Given the description of an element on the screen output the (x, y) to click on. 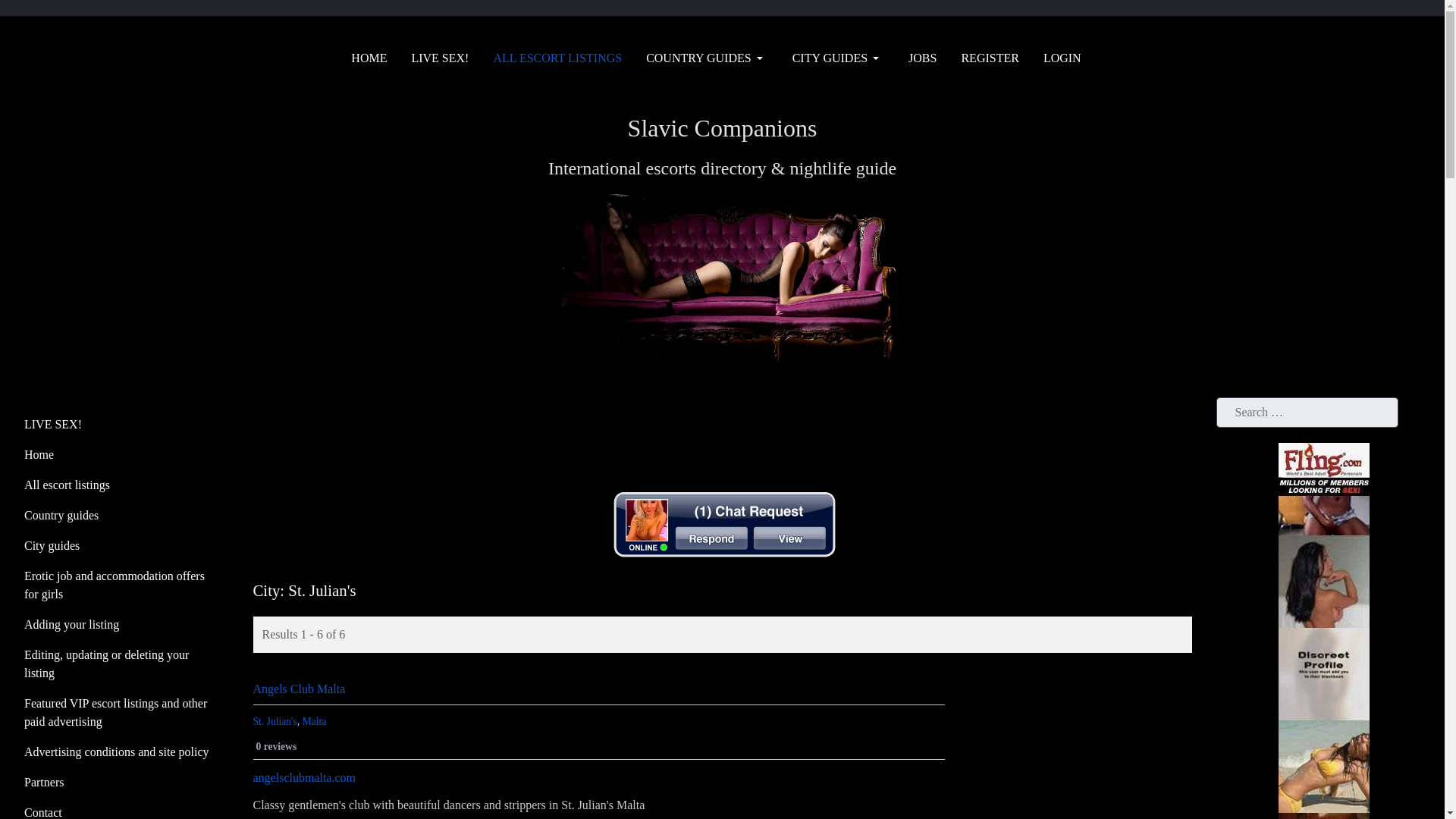
HOME (368, 57)
OwnHosting.Cams.com.top.1 (722, 521)
LIVE SEX! (439, 57)
COUNTRY GUIDES (706, 57)
ALL ESCORT LISTINGS (556, 57)
OwnHosting.Fling.right.4 (1324, 668)
Striptease, sexy games and hot shows on cam (120, 424)
